Given the description of an element on the screen output the (x, y) to click on. 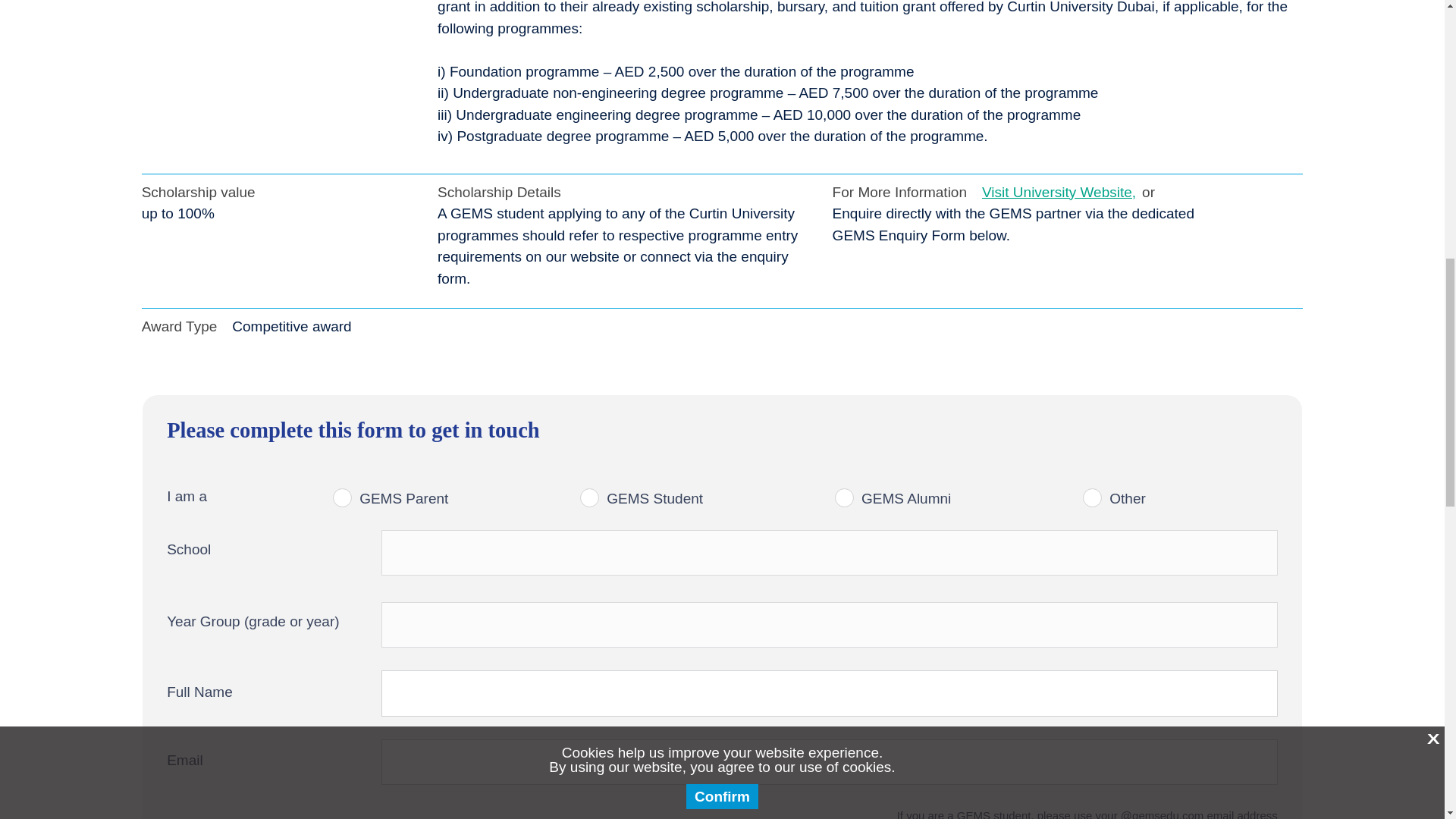
Visit University Website, (1058, 192)
